Given the description of an element on the screen output the (x, y) to click on. 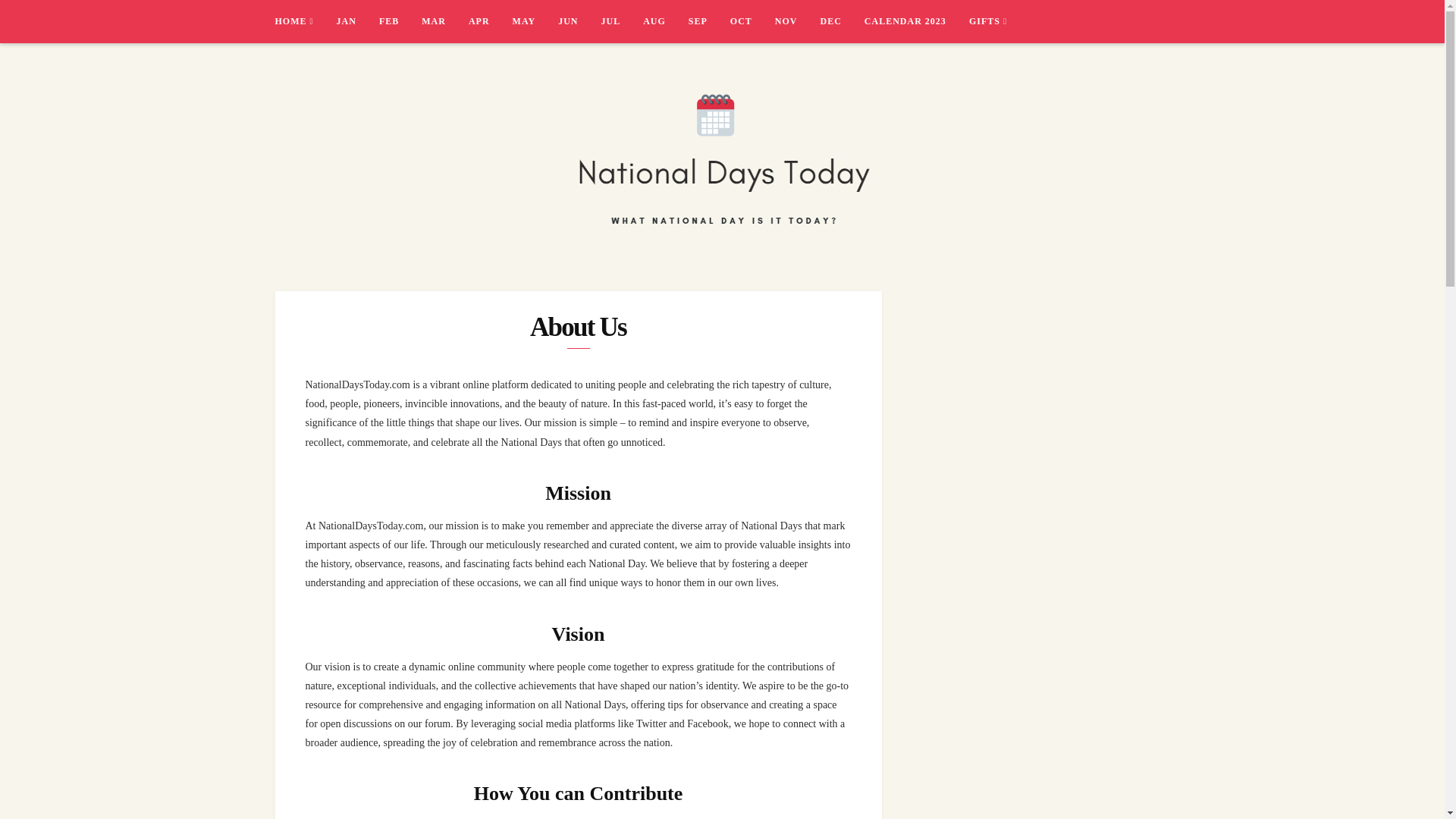
APR (490, 21)
HOME (305, 21)
FEB (400, 21)
DEC (842, 21)
SEP (709, 21)
CALENDAR 2023 (916, 21)
JUL (621, 21)
JAN (357, 21)
NATIONAL DAYS TODAY (401, 268)
JUN (578, 21)
